Given the description of an element on the screen output the (x, y) to click on. 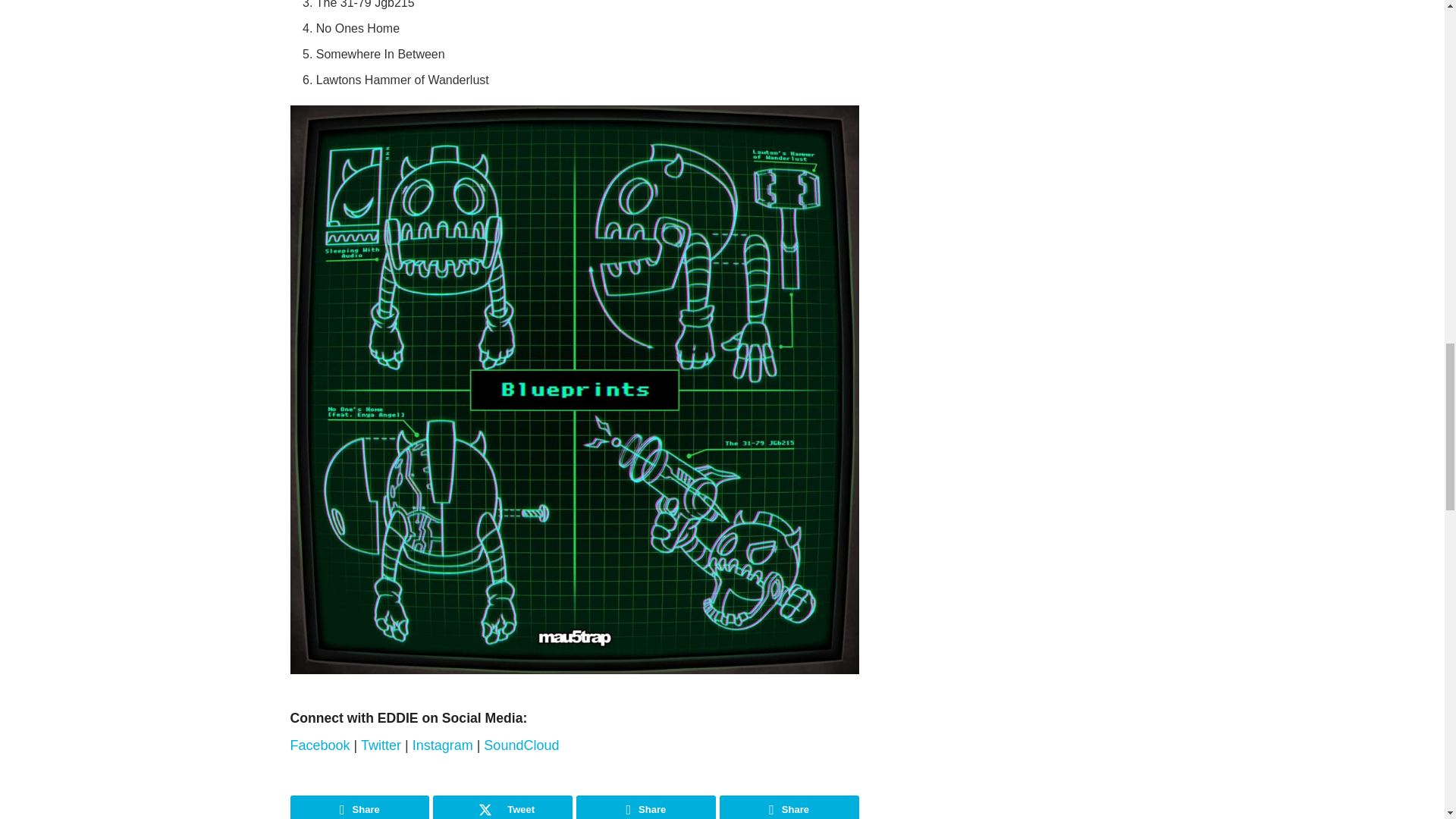
Share (359, 807)
SoundCloud (521, 744)
Share (789, 807)
Instagram  (444, 744)
Facebook  (321, 744)
Twitter  (382, 744)
Tweet (502, 807)
Share (646, 807)
